Given the description of an element on the screen output the (x, y) to click on. 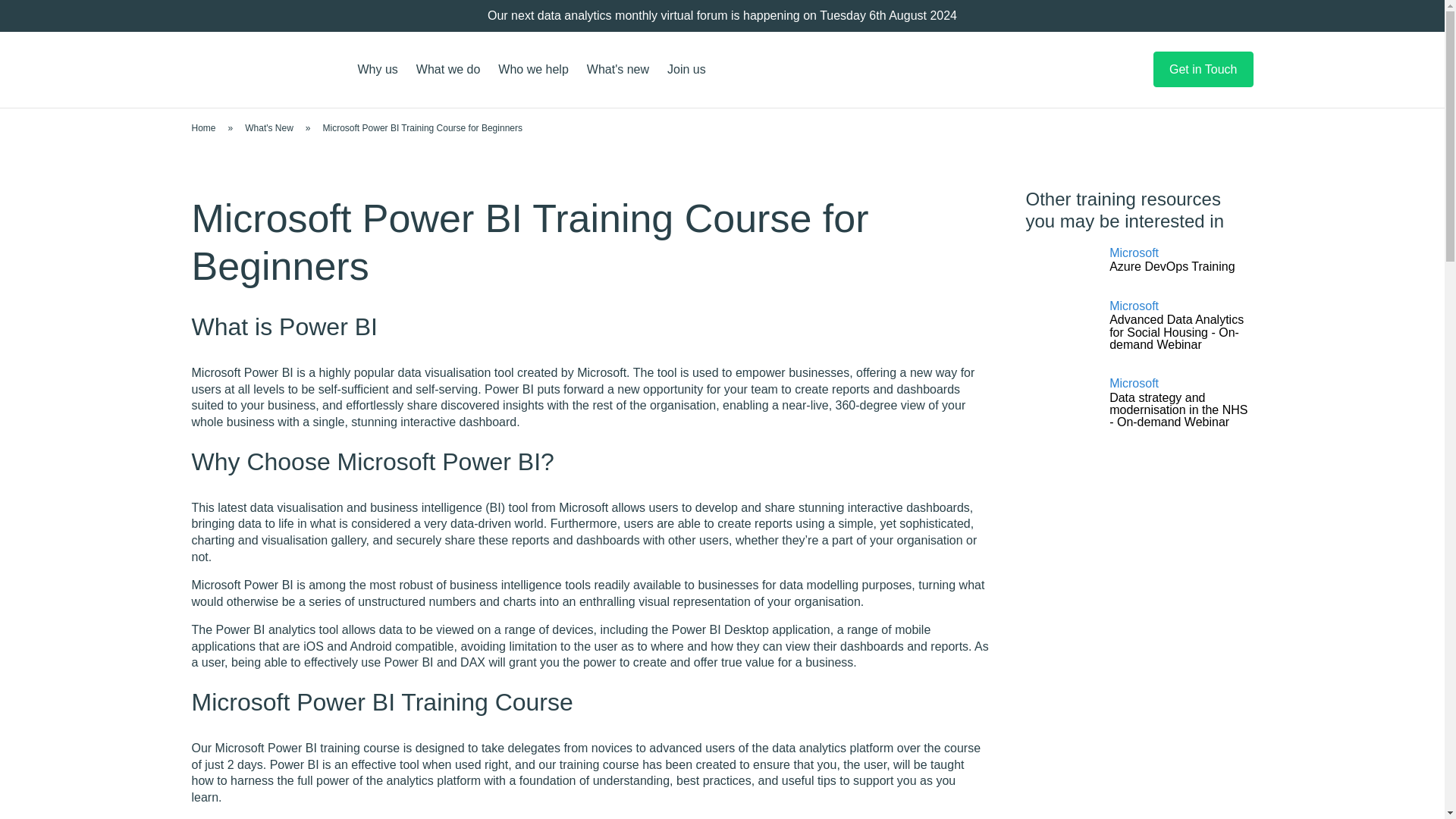
What we do (448, 69)
Who we help (533, 69)
Why us (378, 69)
